Given the description of an element on the screen output the (x, y) to click on. 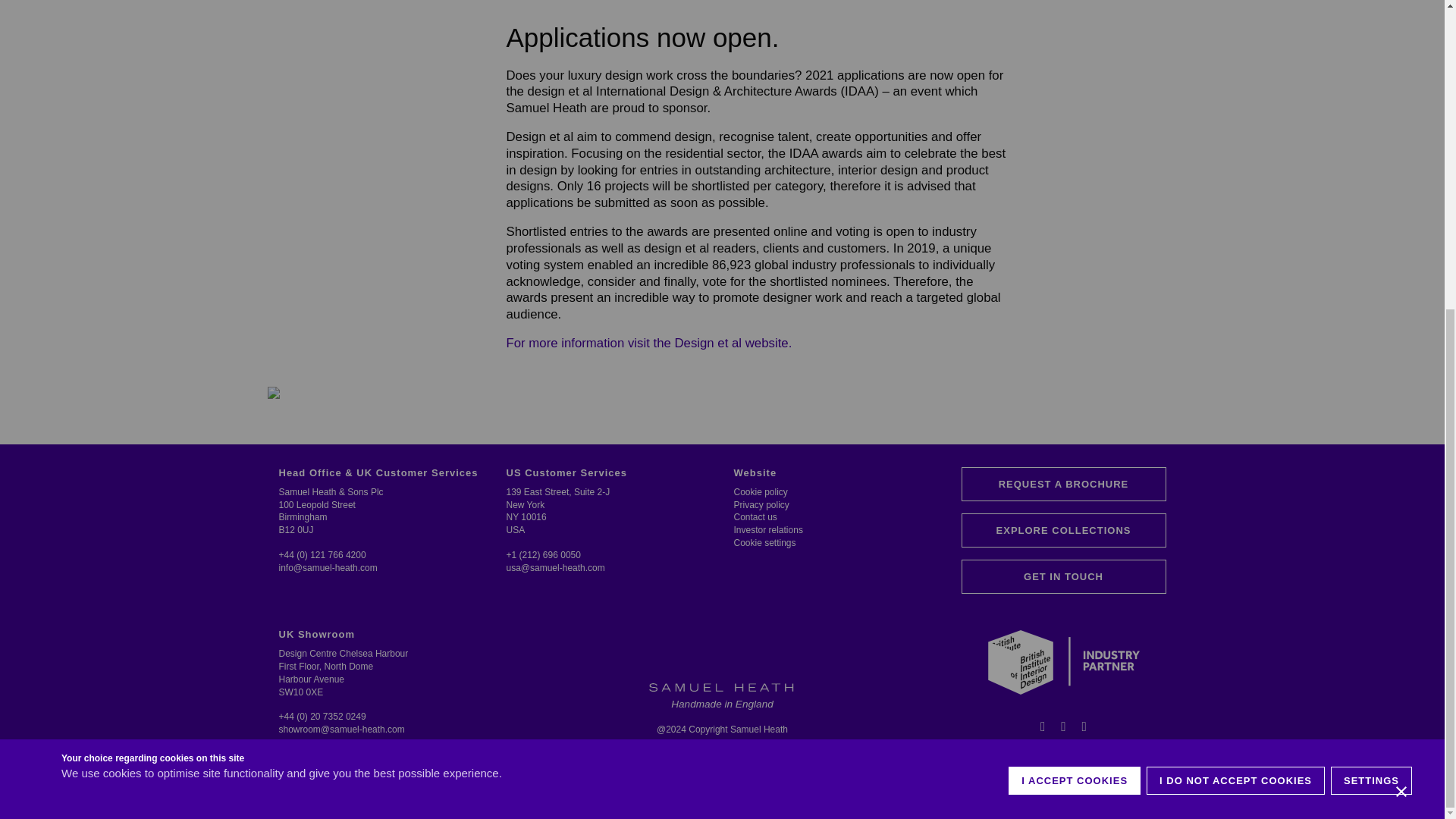
I ACCEPT COOKIES (1074, 290)
SETTINGS (1371, 290)
I DO NOT ACCEPT COOKIES (1235, 290)
